Given the description of an element on the screen output the (x, y) to click on. 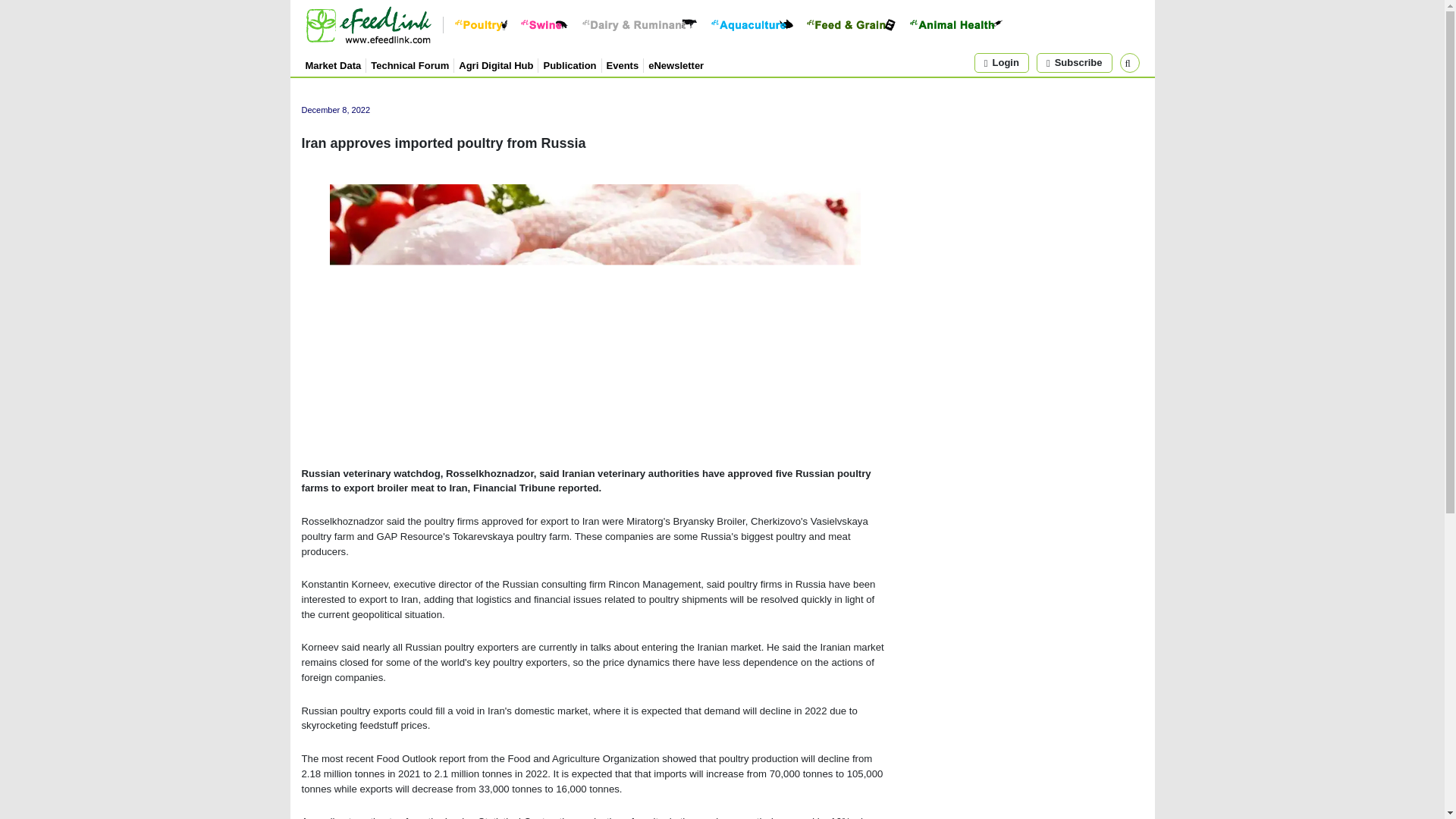
Technical Forum (409, 64)
Publication (569, 64)
Poultry (480, 24)
Aquaculture (752, 24)
Swine (544, 24)
Animal Health (956, 24)
eNewsletter (675, 64)
Agri Digital Hub (495, 64)
Back to eFeedLink Homepage (367, 24)
Events (623, 64)
